Given the description of an element on the screen output the (x, y) to click on. 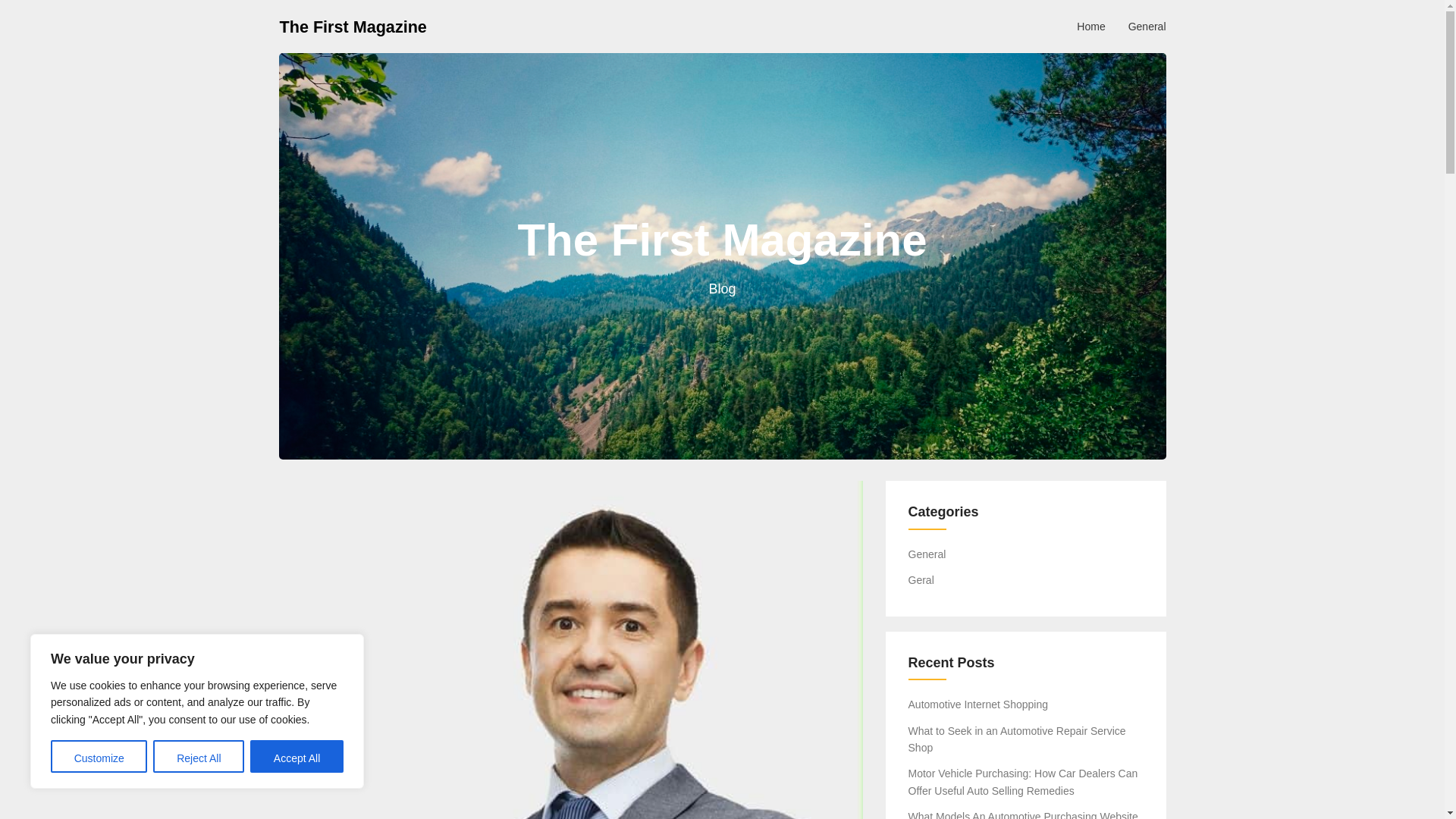
General (927, 553)
Accept All (296, 756)
Geral (921, 580)
Reject All (198, 756)
General (1146, 26)
The First Magazine (352, 26)
Automotive Internet Shopping (978, 704)
Home (1090, 26)
